Given the description of an element on the screen output the (x, y) to click on. 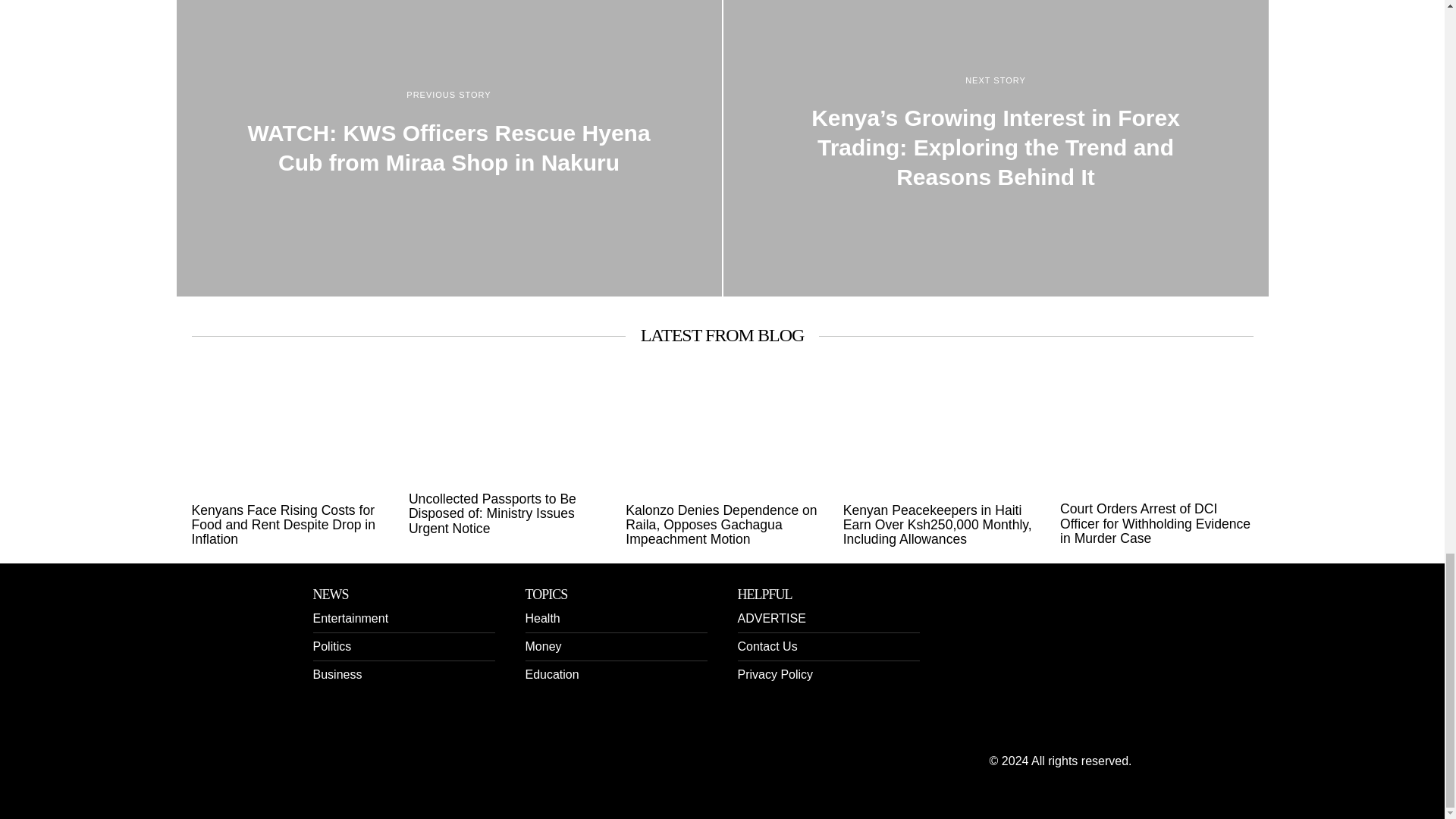
Business (337, 674)
Entertainment (350, 617)
Health (541, 617)
Education (551, 674)
Money (542, 645)
Politics (331, 645)
